Given the description of an element on the screen output the (x, y) to click on. 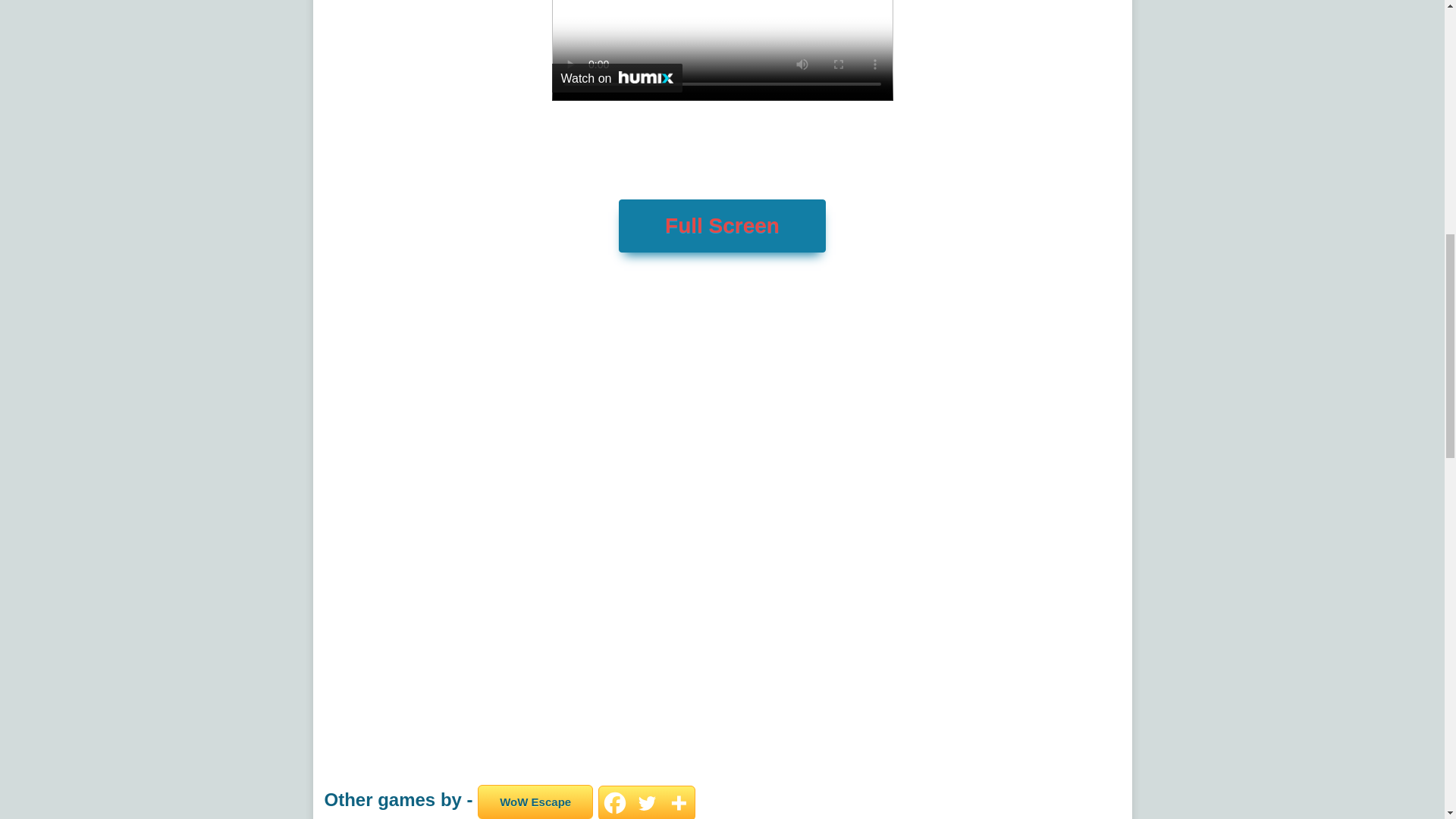
Watch on (616, 77)
